Given the description of an element on the screen output the (x, y) to click on. 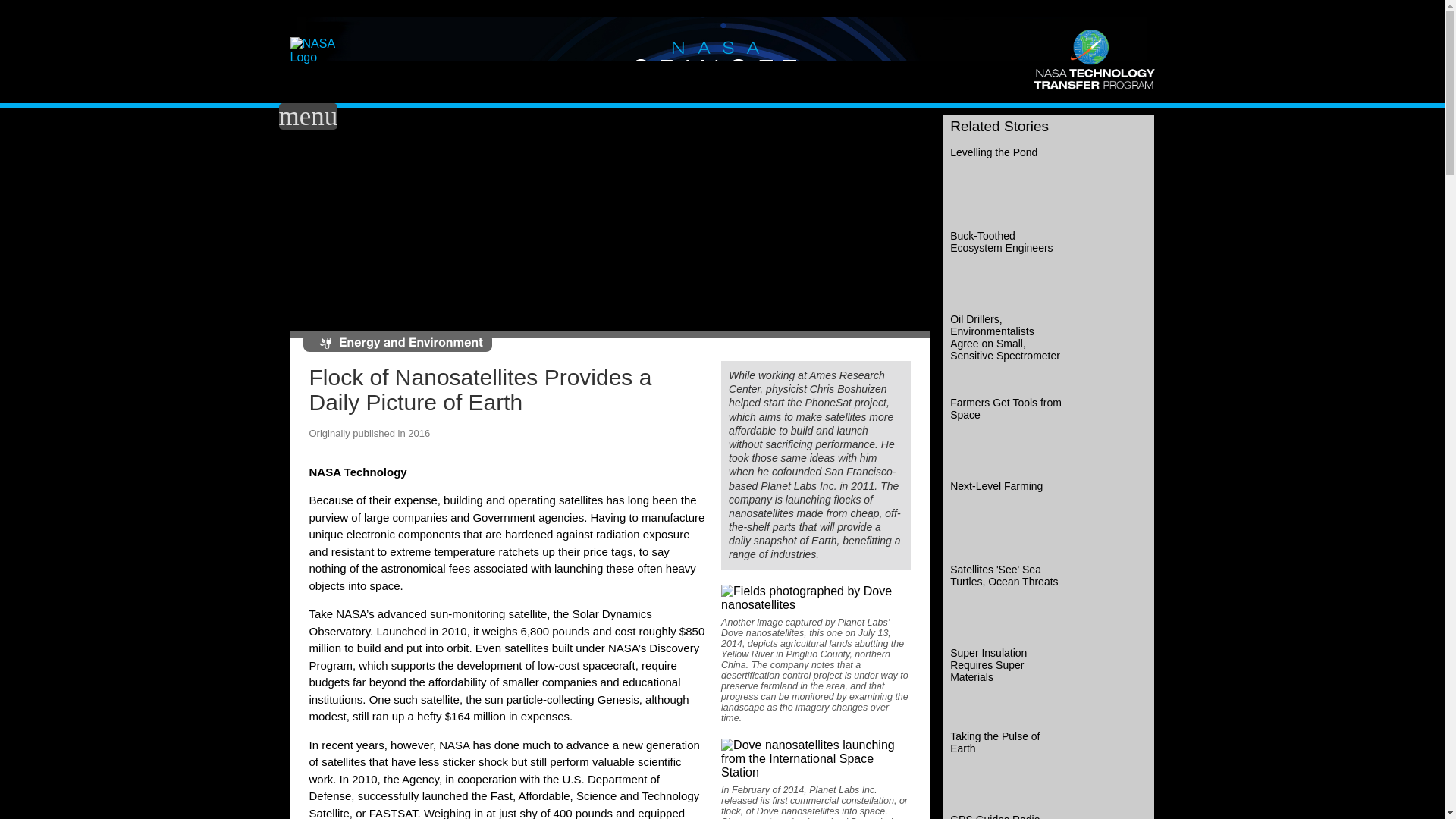
Taking the Pulse of Earth (1048, 767)
Farmers Get Tools from Space (1048, 434)
Next-Level Farming (1048, 517)
Super Insulation Requires Super Materials (1048, 684)
Levelling the Pond (1048, 183)
GPS Guides Radio Occultation Home (1048, 816)
Satellites 'See' Sea Turtles, Ocean Threats (1048, 601)
Buck-Toothed Ecosystem Engineers (1048, 267)
